Given the description of an element on the screen output the (x, y) to click on. 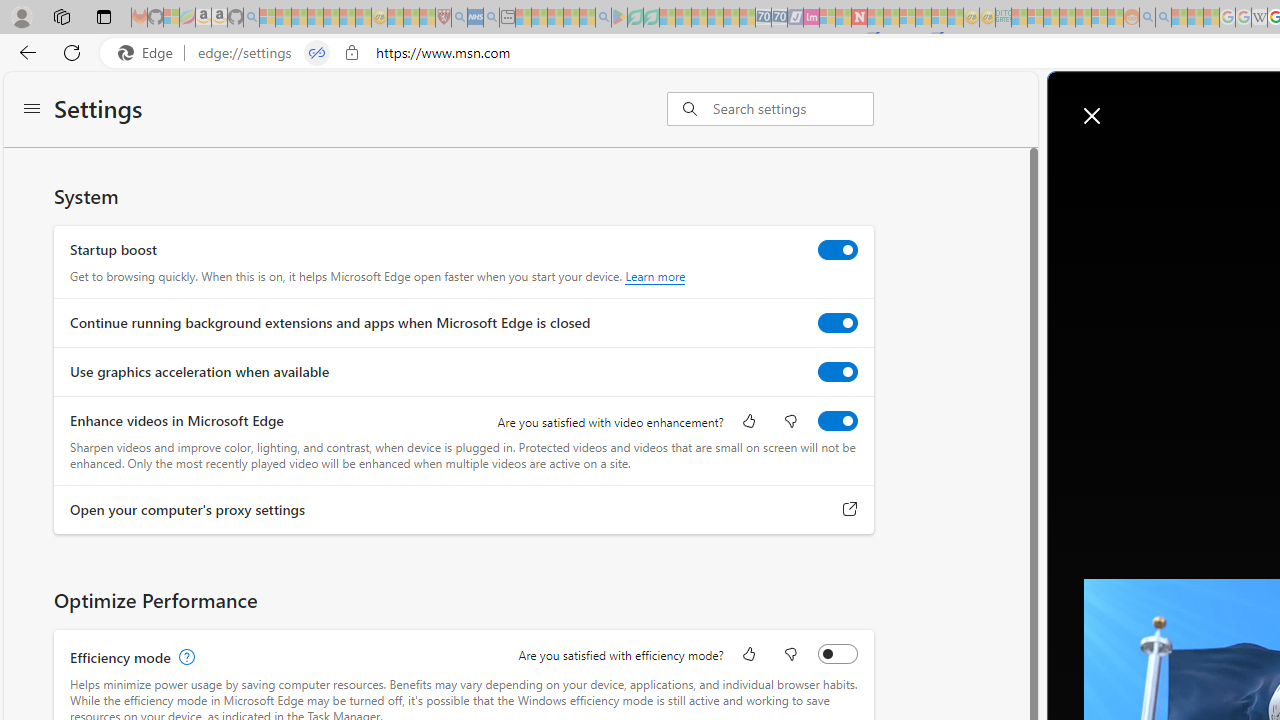
Jobs - lastminute.com Investor Portal - Sleeping (811, 17)
Efficiency mode, learn more (184, 657)
Learn more (655, 276)
DITOGAMES AG Imprint - Sleeping (1003, 17)
Class: control icon-only (1092, 115)
Terms of Use Agreement - Sleeping (635, 17)
Efficiency mode (837, 653)
